Given the description of an element on the screen output the (x, y) to click on. 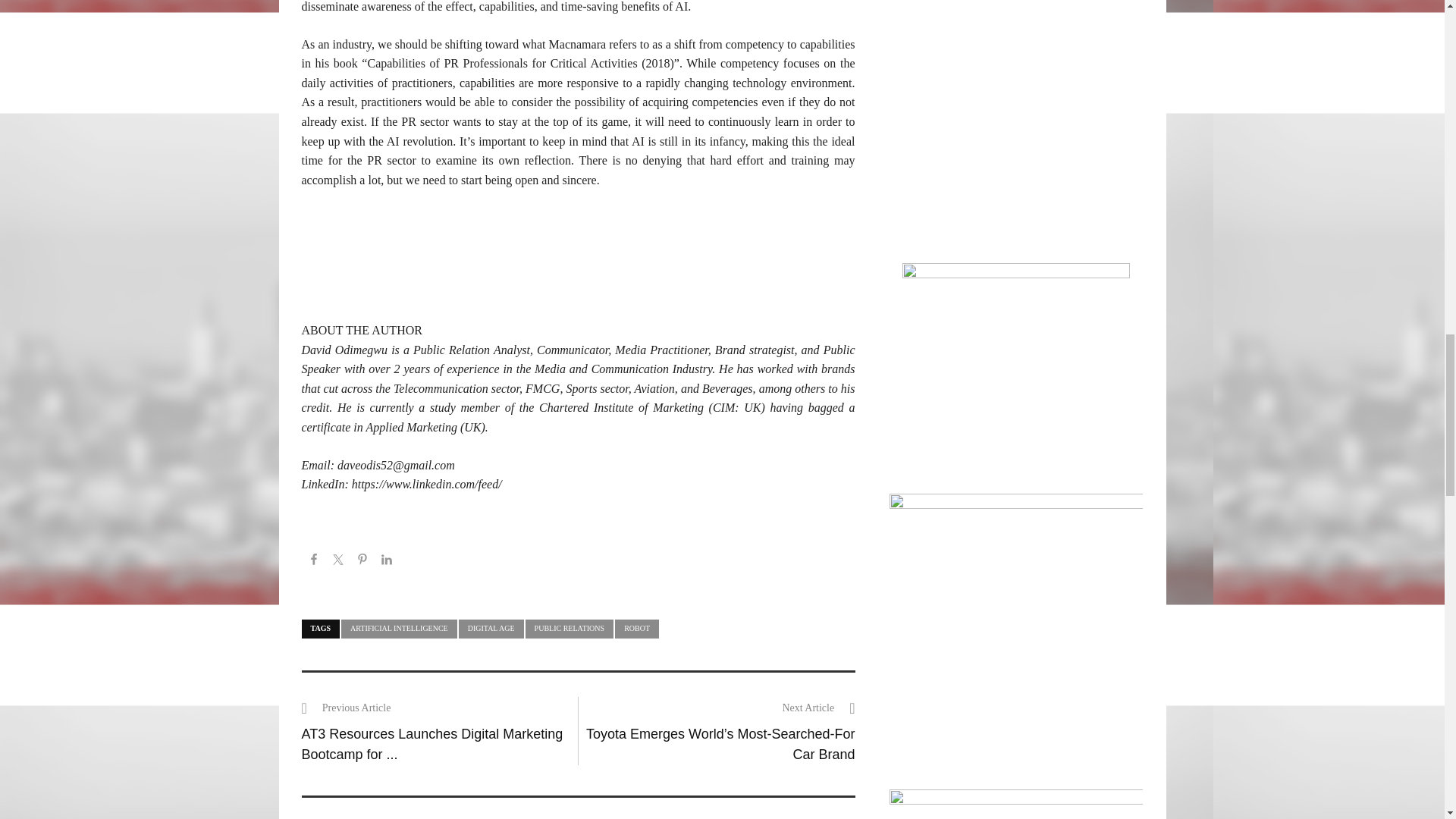
View all posts tagged artificial intelligence (398, 628)
Share on Pinterest (362, 561)
Share on Twitter (338, 561)
Share on Facebook (313, 561)
Share on LinkedIn (386, 561)
